Given the description of an element on the screen output the (x, y) to click on. 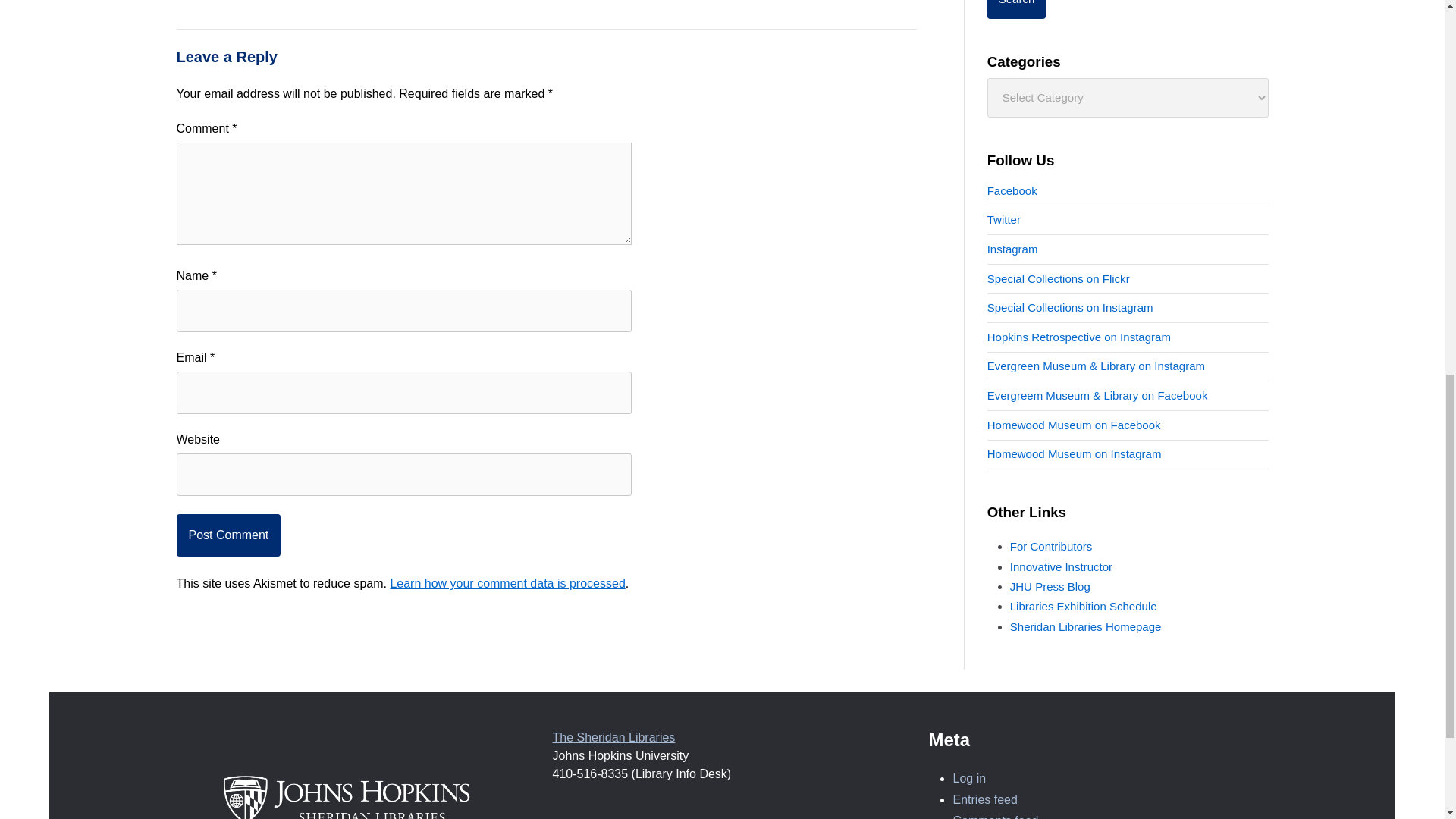
Instagram (1012, 248)
Post Comment (228, 535)
Learn how your comment data is processed (507, 583)
Search (1016, 9)
Search (1016, 9)
Twitter (1003, 219)
Facebook (1011, 190)
Post Comment (228, 535)
Search (1016, 9)
